Given the description of an element on the screen output the (x, y) to click on. 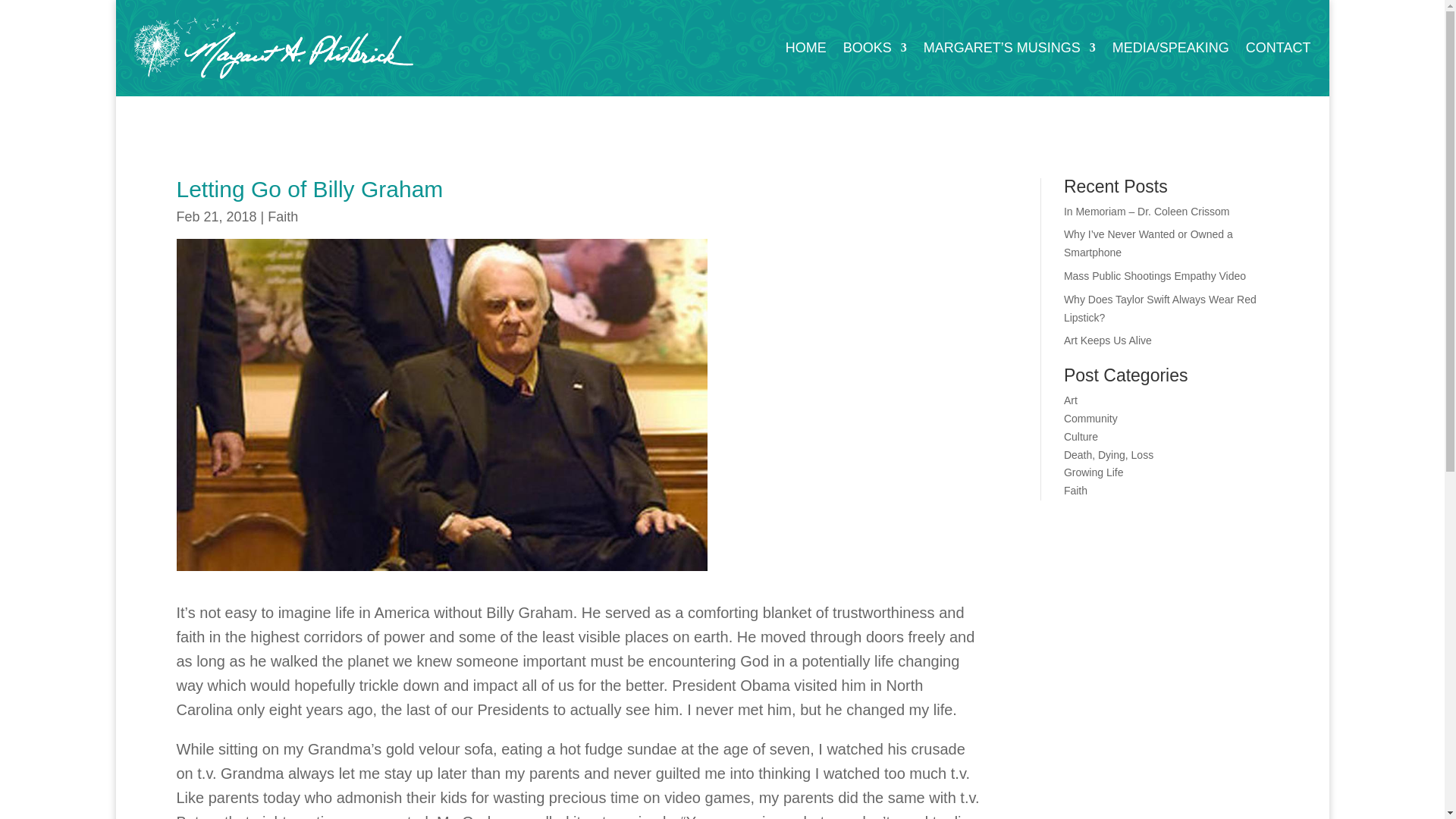
BOOKS (875, 50)
Art Keeps Us Alive (1107, 340)
HOME (806, 50)
CONTACT (1278, 50)
Why Does Taylor Swift Always Wear Red Lipstick? (1160, 308)
Mass Public Shootings Empathy Video (1155, 275)
Faith (282, 216)
signature-logo (272, 47)
